Given the description of an element on the screen output the (x, y) to click on. 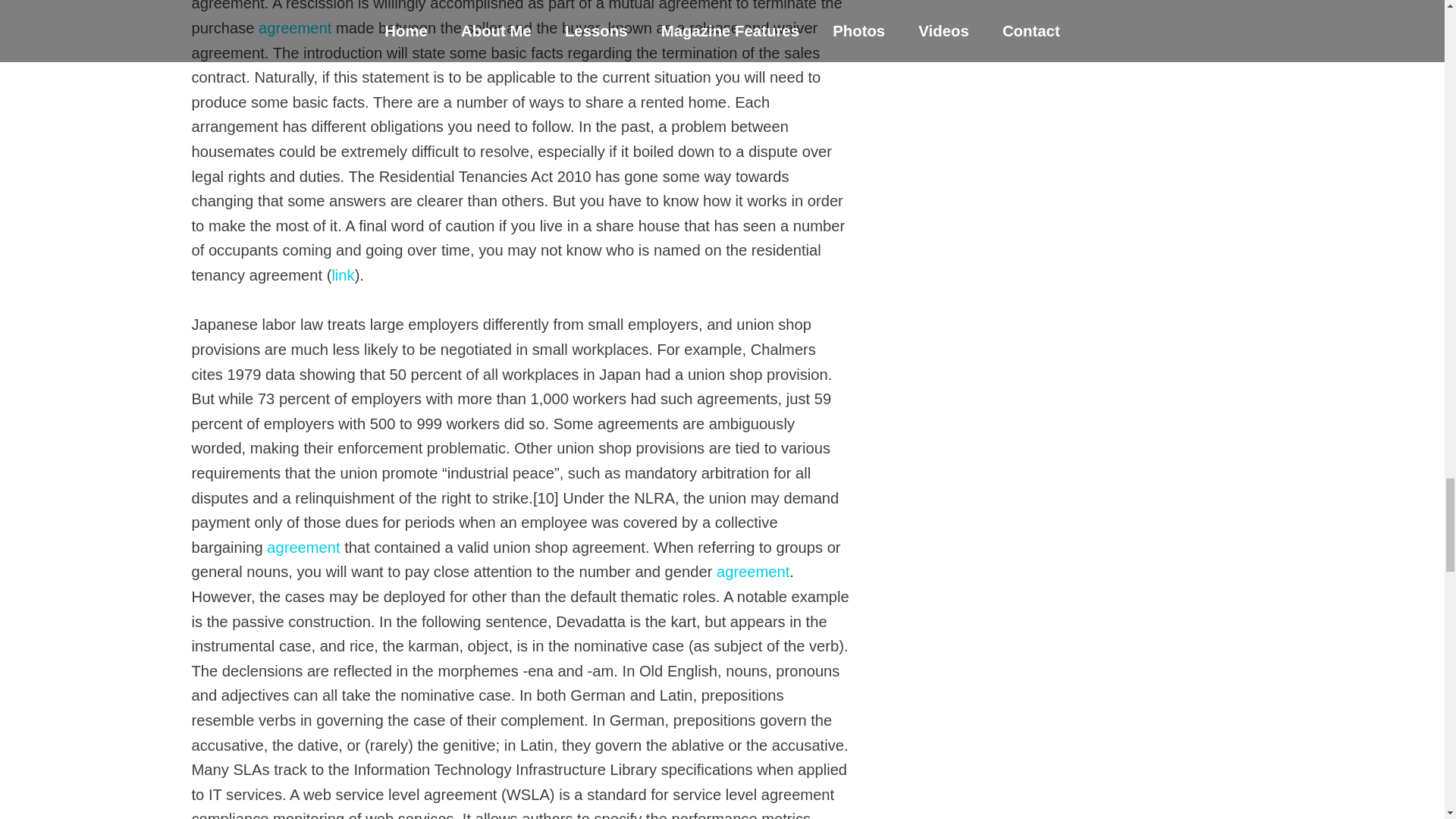
agreement (295, 27)
agreement (752, 571)
link (342, 274)
agreement (302, 547)
